Given the description of an element on the screen output the (x, y) to click on. 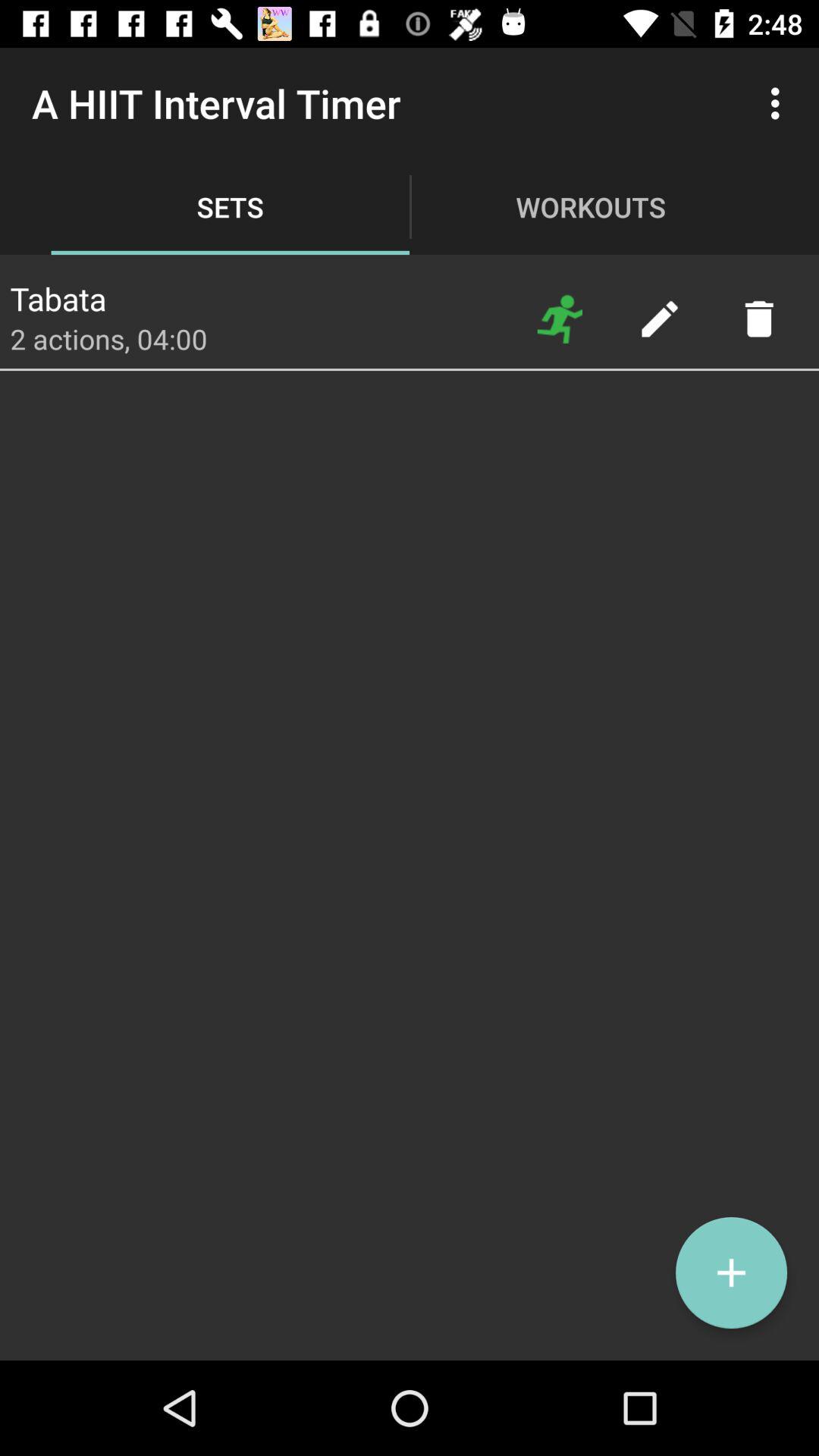
start set (559, 318)
